Given the description of an element on the screen output the (x, y) to click on. 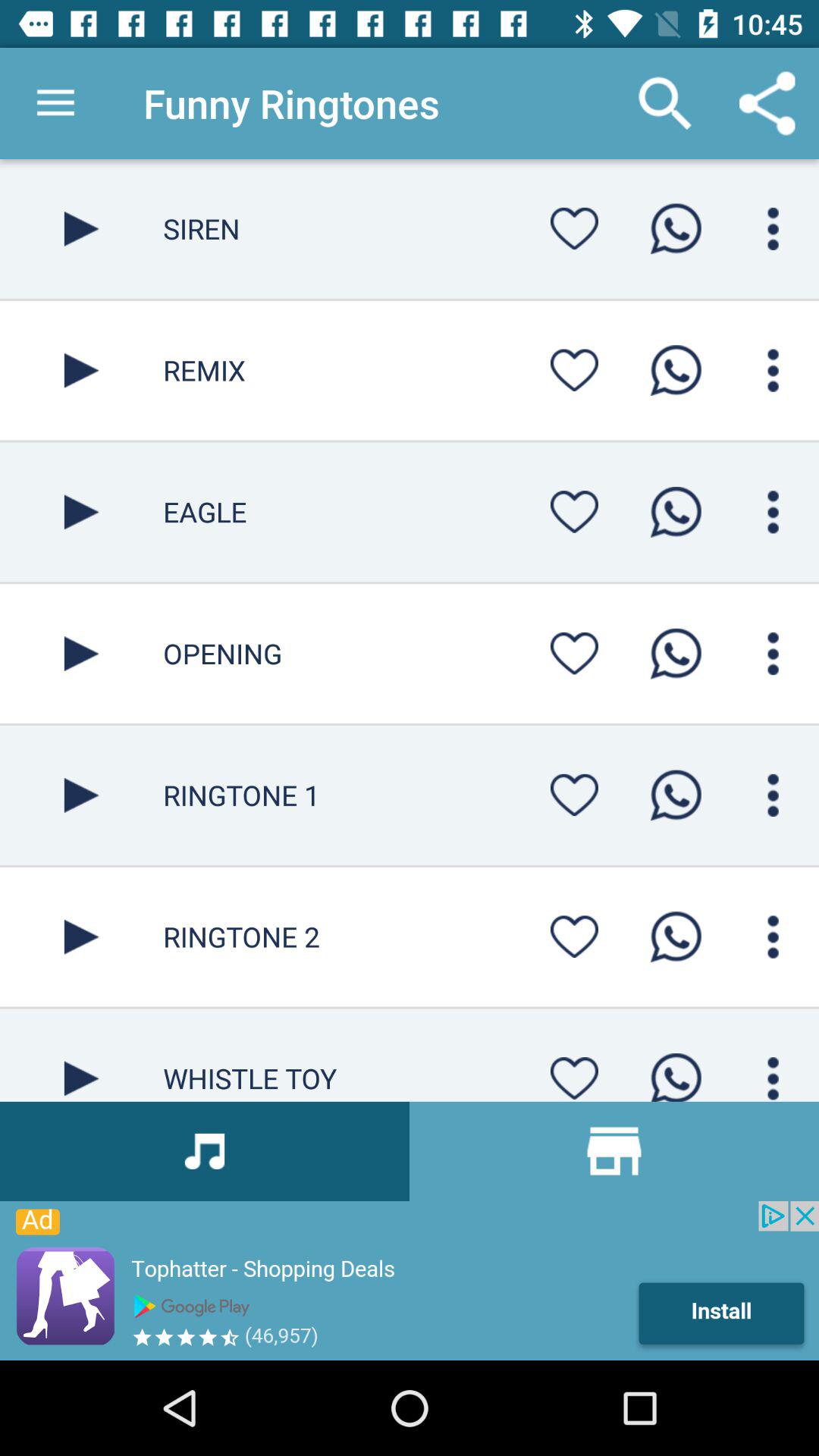
play option (81, 936)
